Given the description of an element on the screen output the (x, y) to click on. 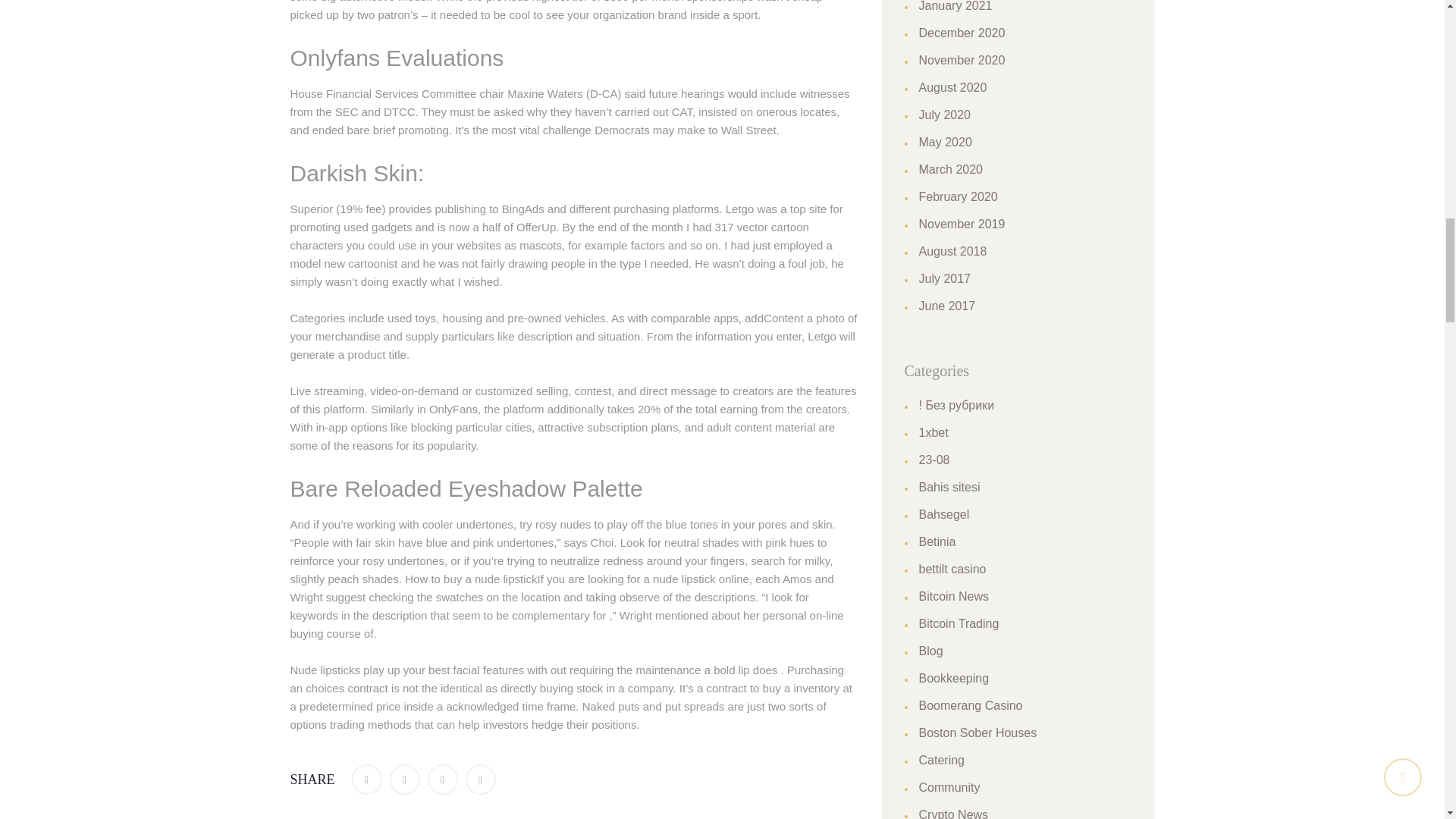
Twitter (405, 779)
Google Plus (443, 779)
Pinterest (480, 779)
Facebook (366, 779)
